Given the description of an element on the screen output the (x, y) to click on. 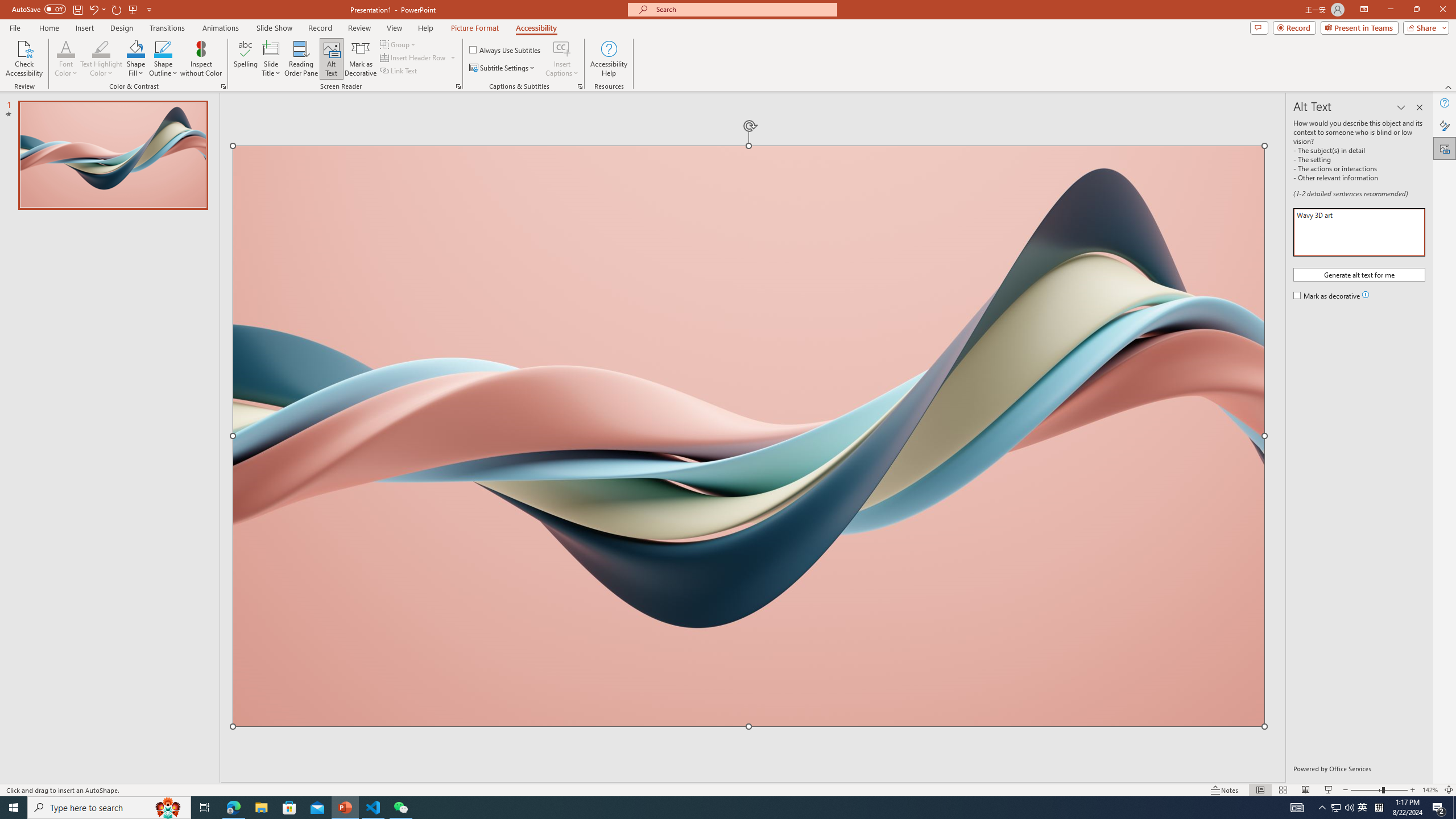
Format Picture (1444, 125)
Accessibility Help (608, 58)
Wavy 3D art (747, 435)
Screen Reader (458, 85)
Zoom 142% (1430, 790)
